Given the description of an element on the screen output the (x, y) to click on. 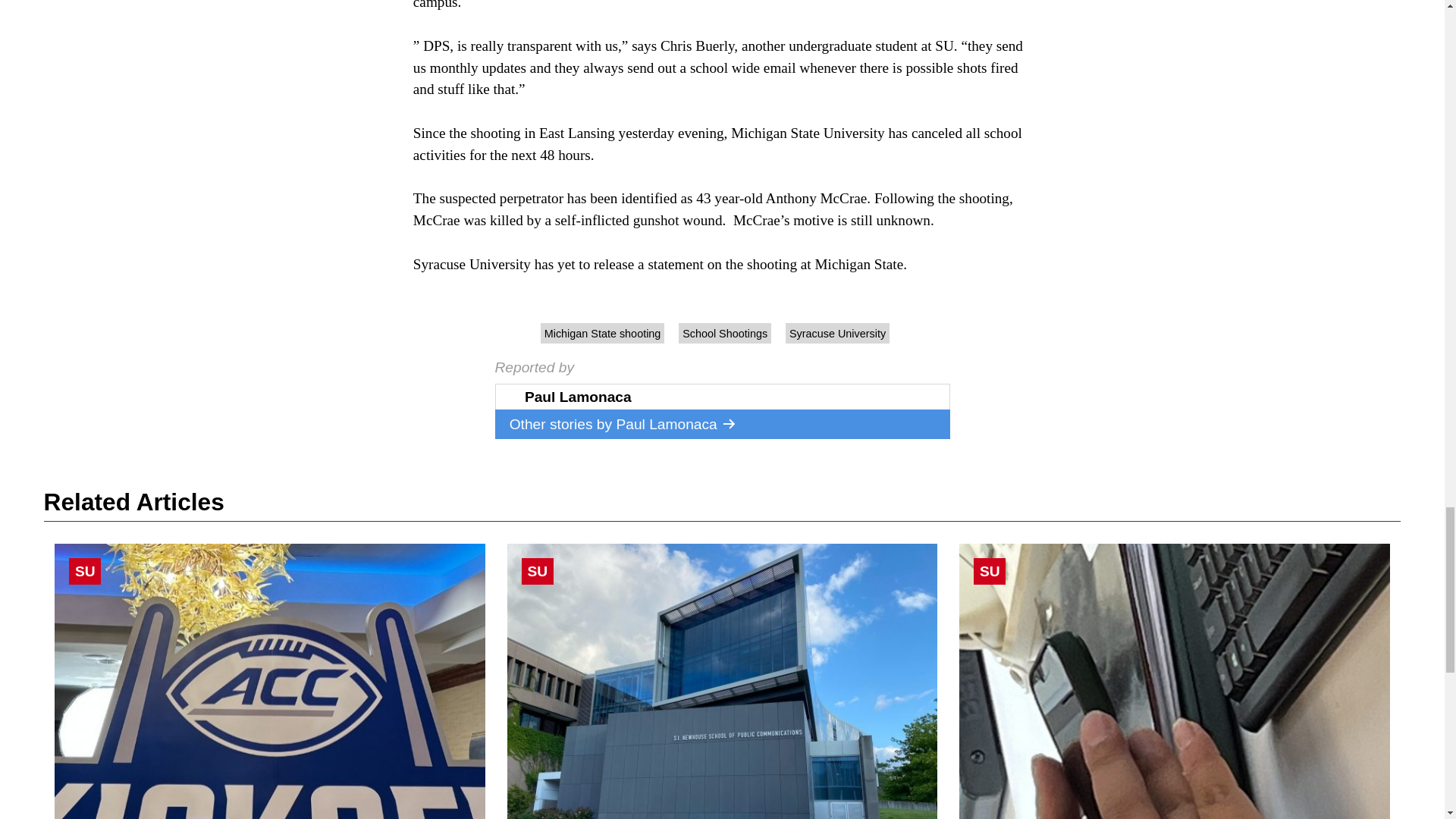
Paul Lamonaca (675, 424)
Syracuse University (837, 333)
Michigan State shooting (602, 333)
School Shootings (724, 333)
